Given the description of an element on the screen output the (x, y) to click on. 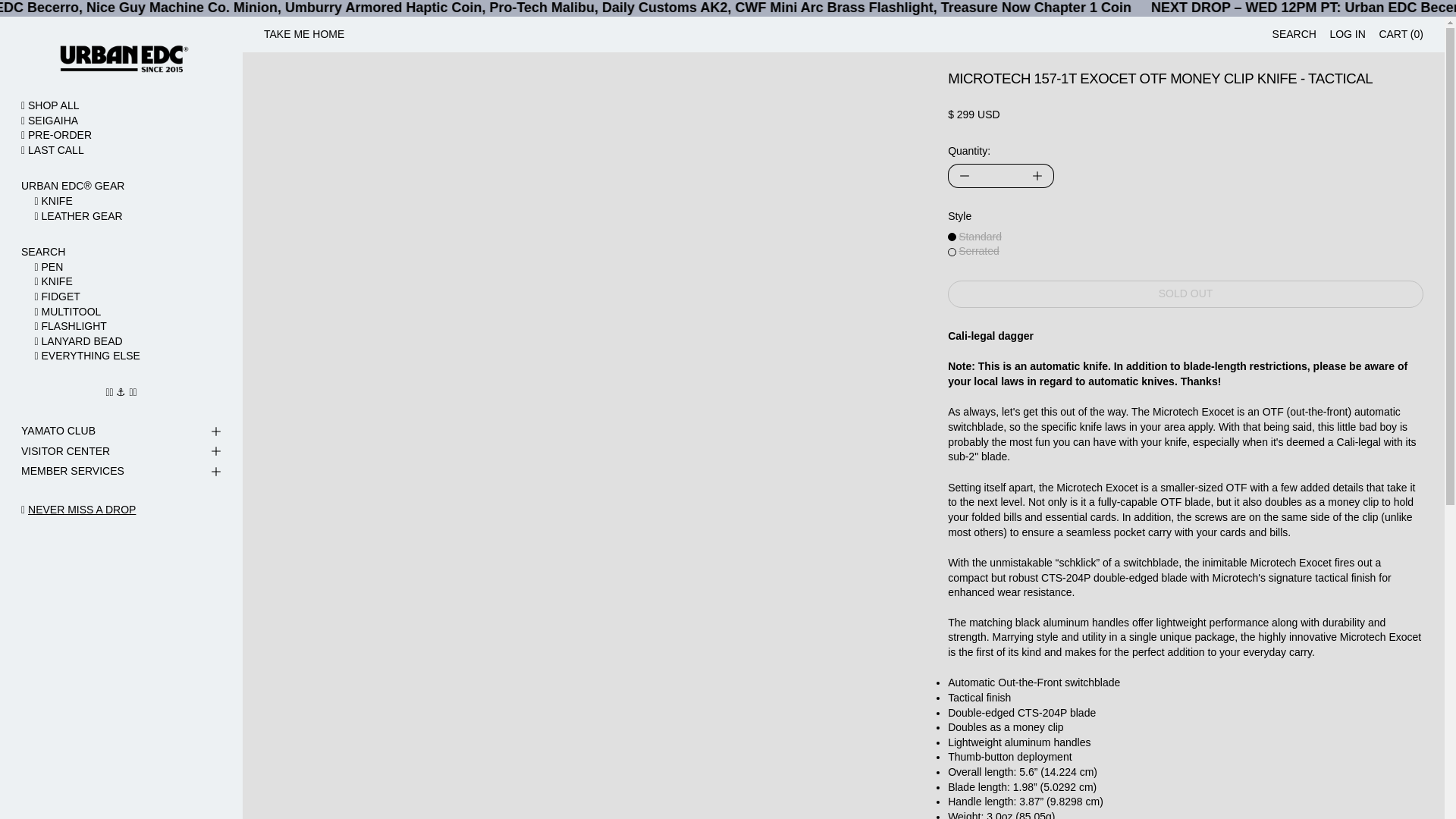
SEARCH (121, 252)
YAMATO CLUB (121, 431)
NEVER MISS A DROP (81, 509)
MEMBER SERVICES (121, 471)
LOG IN (1347, 34)
TAKE ME HOME (303, 34)
VISITOR CENTER (121, 451)
SEARCH (1294, 34)
